Given the description of an element on the screen output the (x, y) to click on. 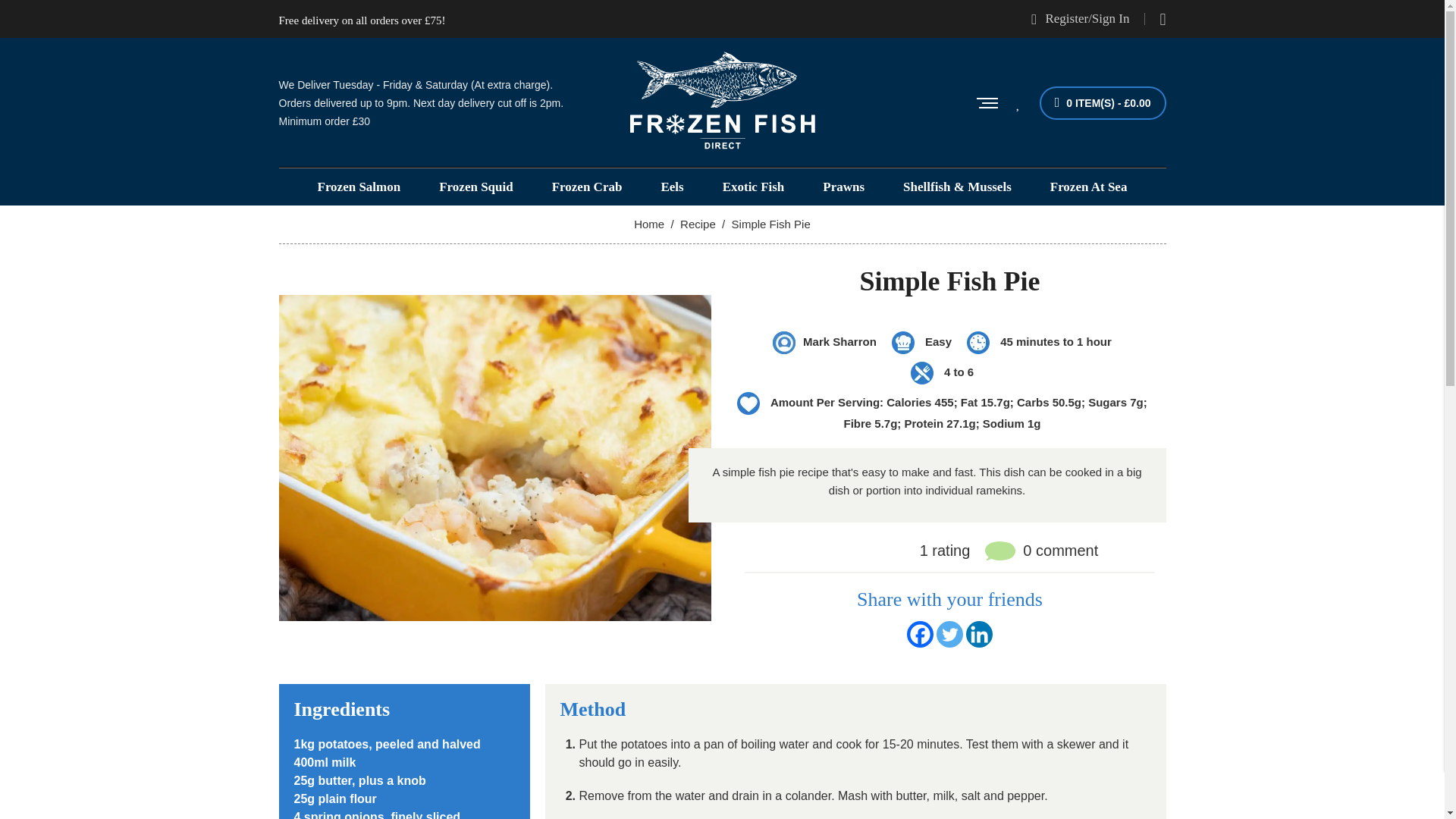
Frozen Fish Direct (648, 223)
Facebook (920, 633)
Linkedin (979, 633)
Recipe (697, 223)
Twitter (949, 633)
